Given the description of an element on the screen output the (x, y) to click on. 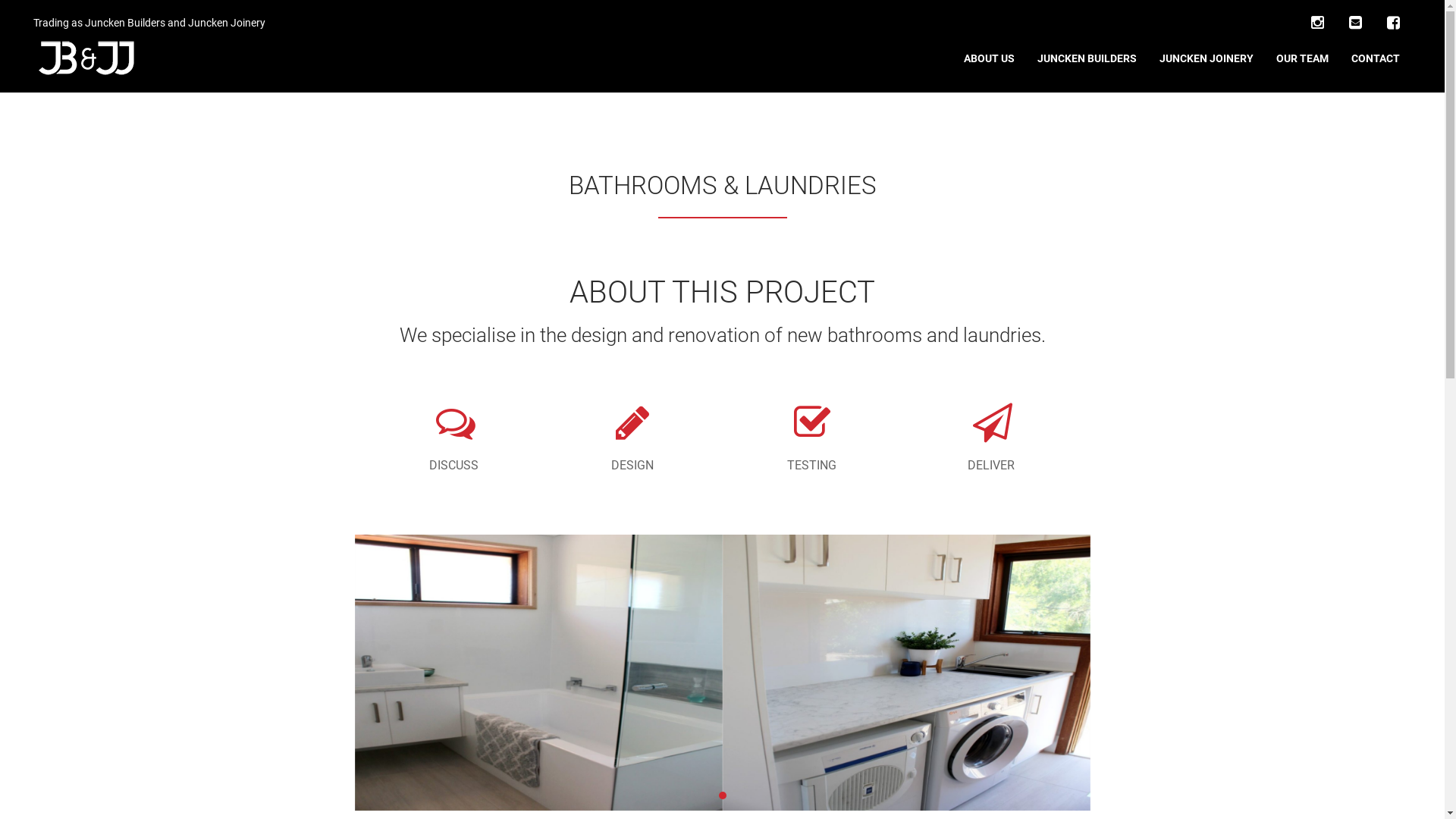
JUNCKEN JOINERY Element type: text (1206, 58)
ABOUT US Element type: text (989, 58)
CONTACT Element type: text (1375, 58)
OUR TEAM Element type: text (1301, 58)
JUNCKEN BUILDERS Element type: text (1087, 58)
